Given the description of an element on the screen output the (x, y) to click on. 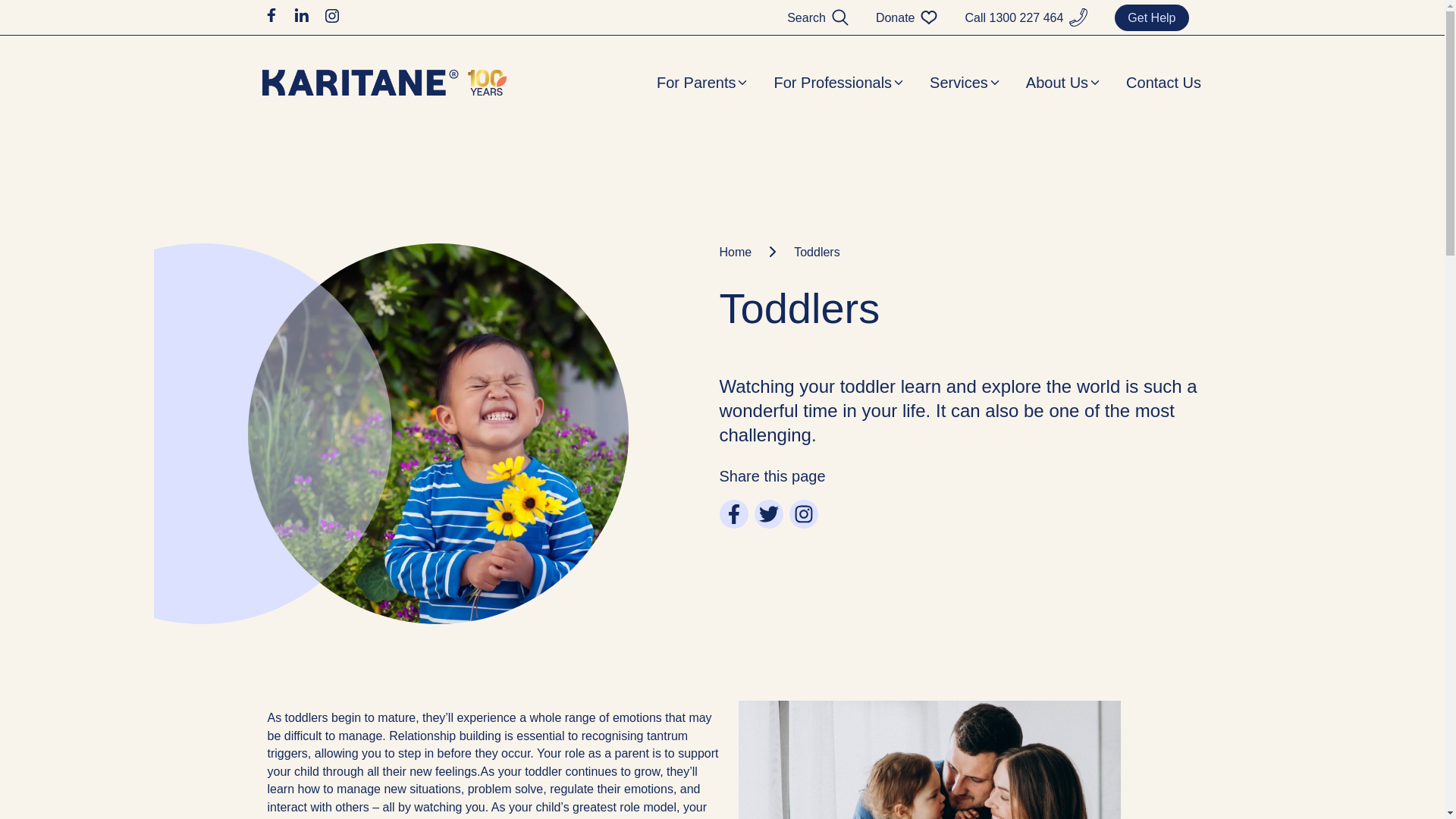
Donate Element type: text (895, 17)
Toddlers Element type: text (816, 251)
About Us Element type: text (1063, 82)
Get Help Element type: text (1151, 17)
For Parents Element type: text (702, 82)
For Professionals Element type: text (839, 82)
Home Element type: text (749, 251)
Services Element type: text (965, 82)
Contact Us Element type: text (1163, 82)
Call 1300 227 464 Element type: text (1013, 17)
